Given the description of an element on the screen output the (x, y) to click on. 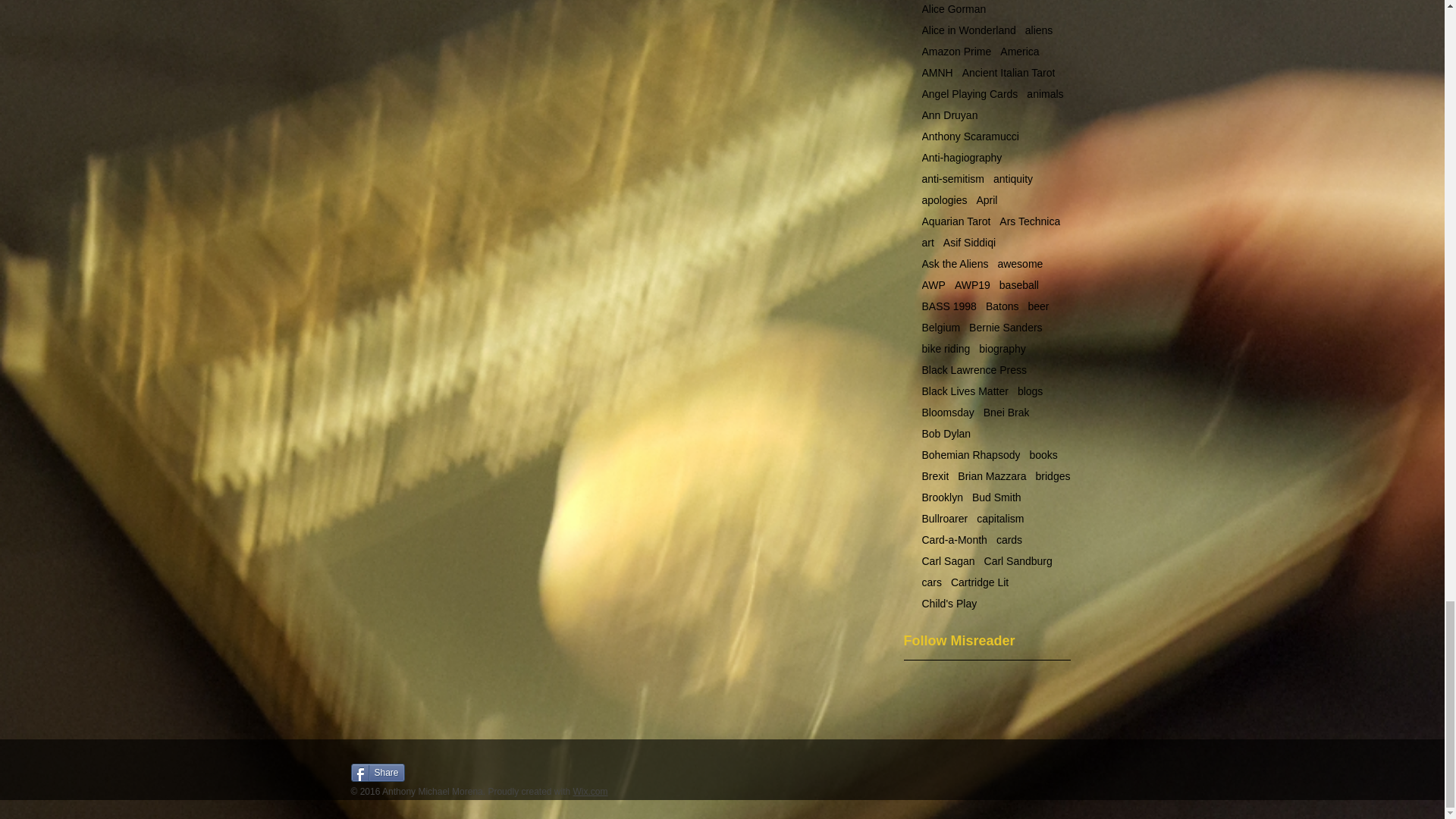
Twitter Tweet (437, 772)
Share (377, 772)
